Given the description of an element on the screen output the (x, y) to click on. 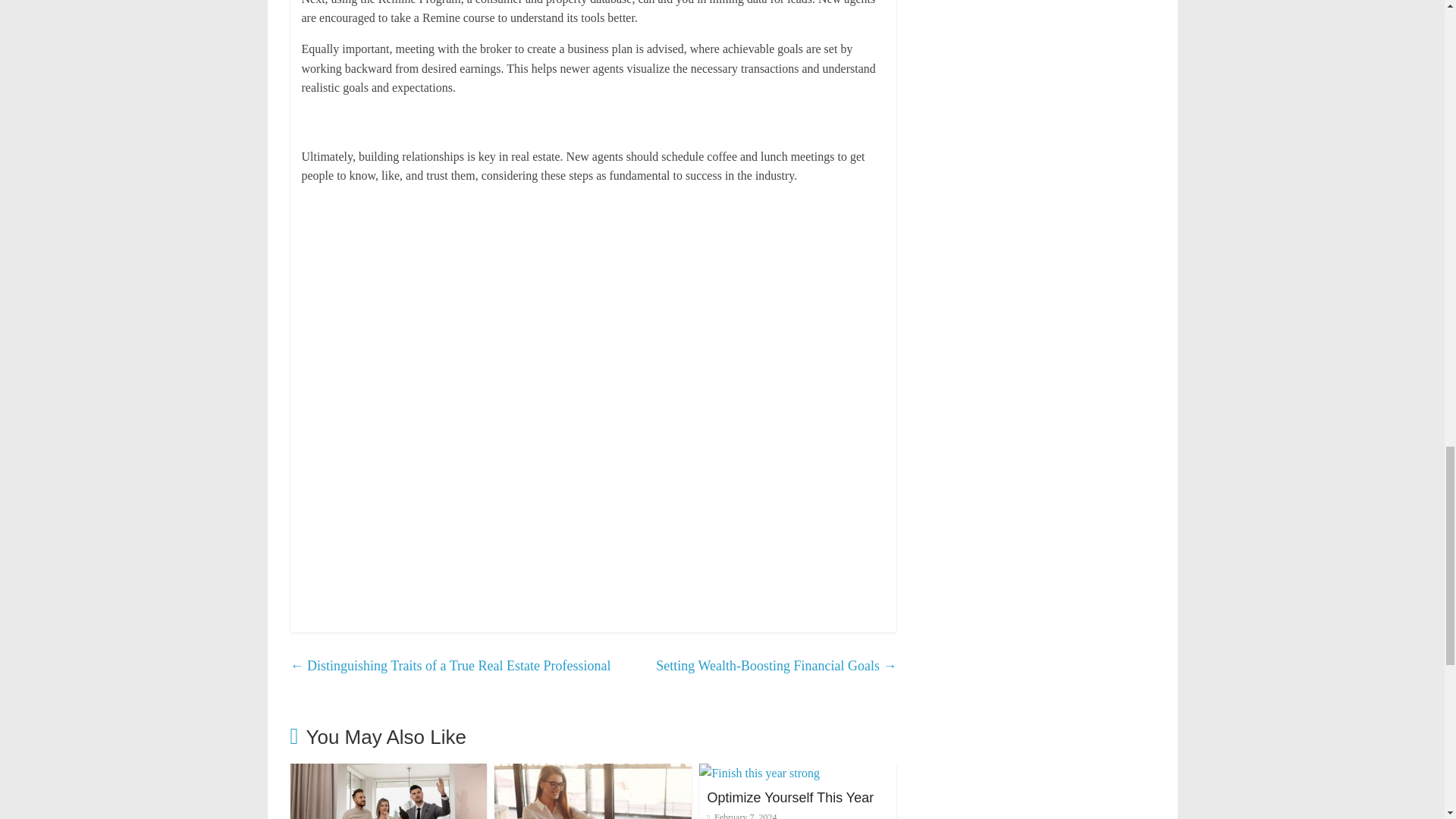
February 7, 2024 (741, 815)
Optimize Yourself This Year (758, 772)
Essential Tips for New Real Estate Agents (593, 772)
Optimize Yourself This Year (789, 797)
